Given the description of an element on the screen output the (x, y) to click on. 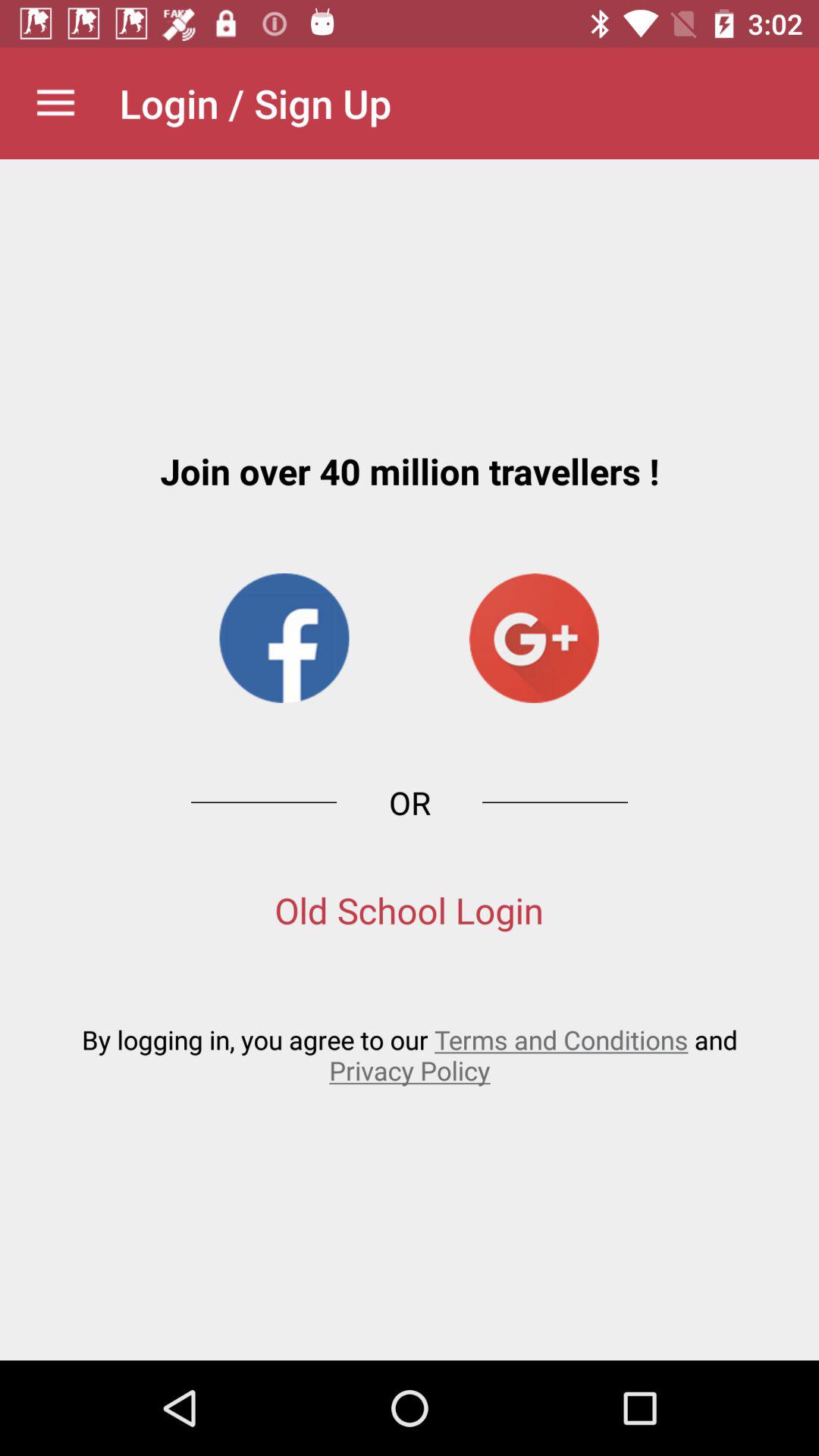
press icon below the old school login item (409, 1055)
